Given the description of an element on the screen output the (x, y) to click on. 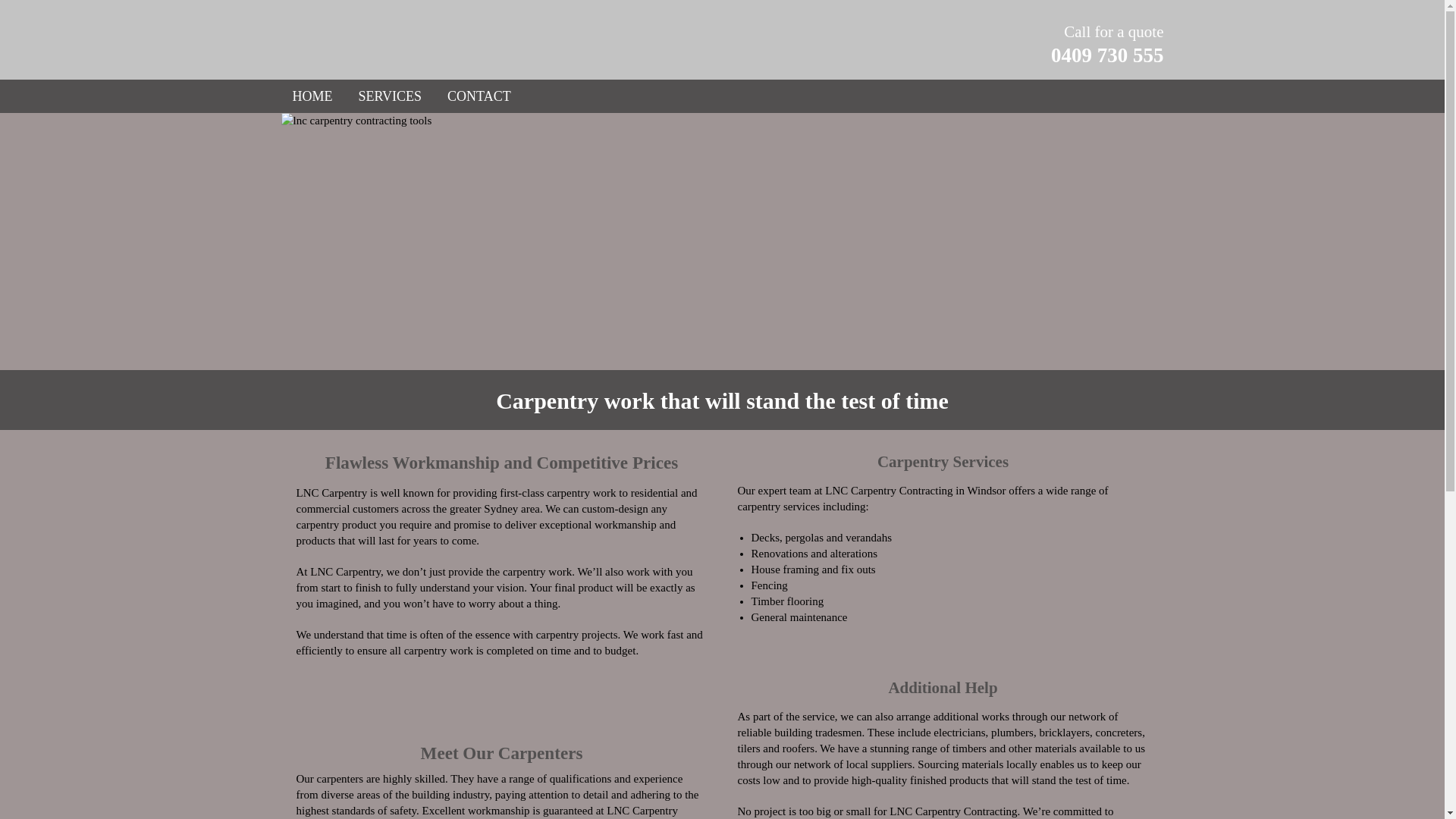
stand Element type: text (772, 400)
HOME Element type: text (312, 96)
0409 730 555 Element type: text (1107, 54)
lnc carpentry contracting tools Element type: hover (721, 241)
SERVICES Element type: text (389, 96)
CONTACT Element type: text (479, 96)
